Given the description of an element on the screen output the (x, y) to click on. 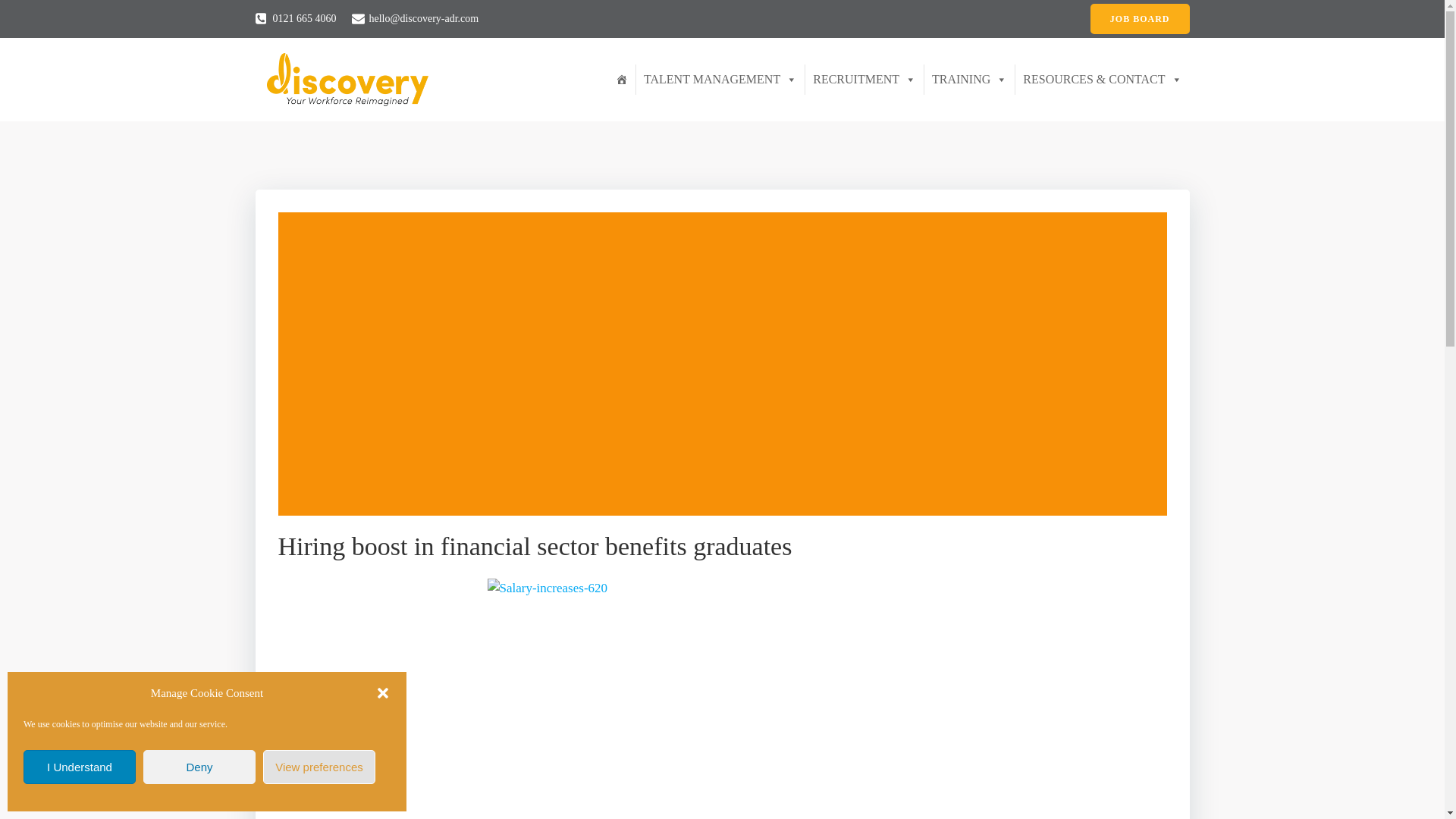
JOB BOARD (1139, 19)
View preferences (319, 766)
TRAINING (969, 79)
I Understand (79, 766)
Deny (199, 766)
TALENT MANAGEMENT (720, 79)
RECRUITMENT (864, 79)
0121 665 4060 (295, 18)
